Given the description of an element on the screen output the (x, y) to click on. 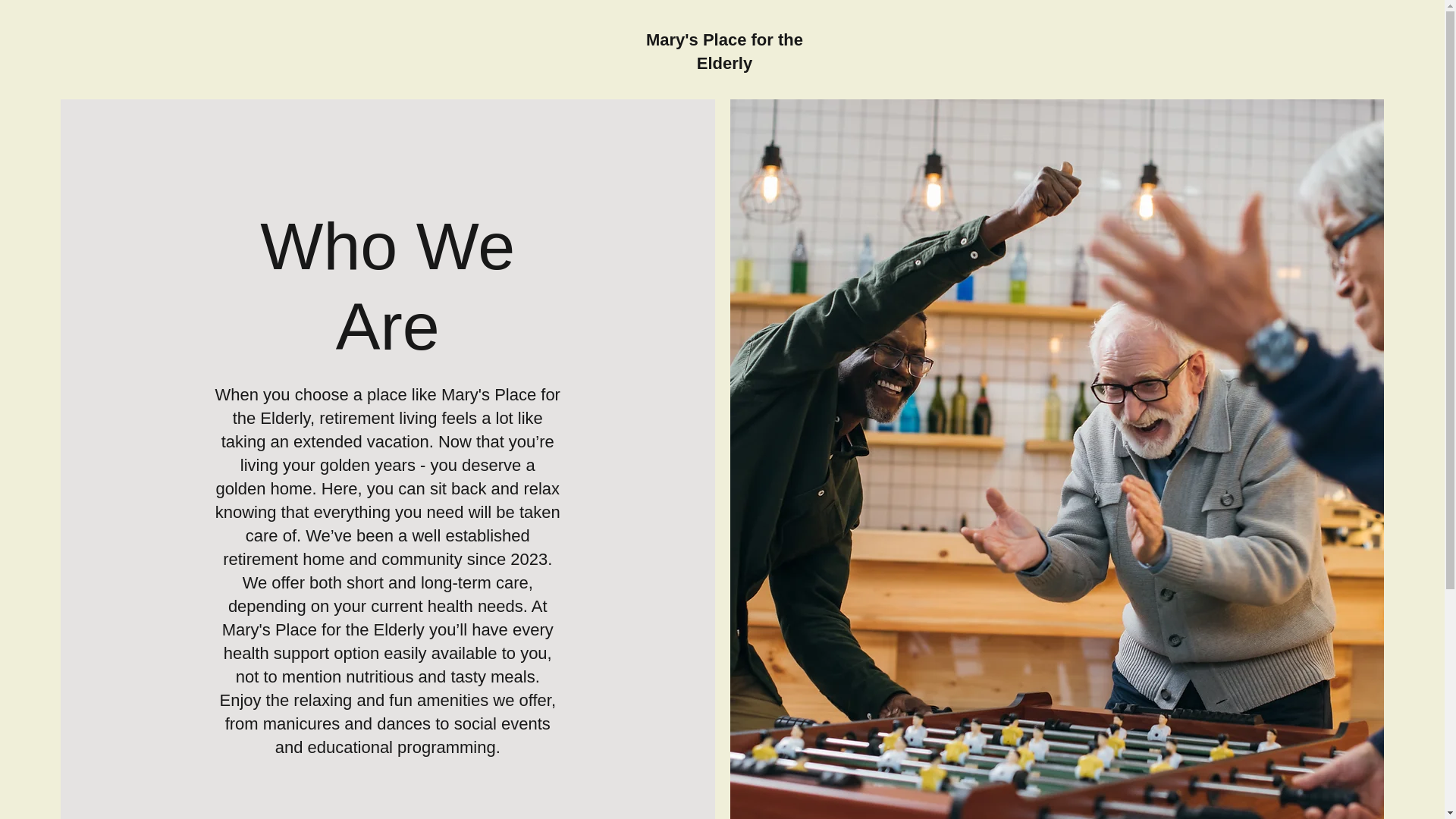
Mary's Place for the Elderly (724, 51)
